Given the description of an element on the screen output the (x, y) to click on. 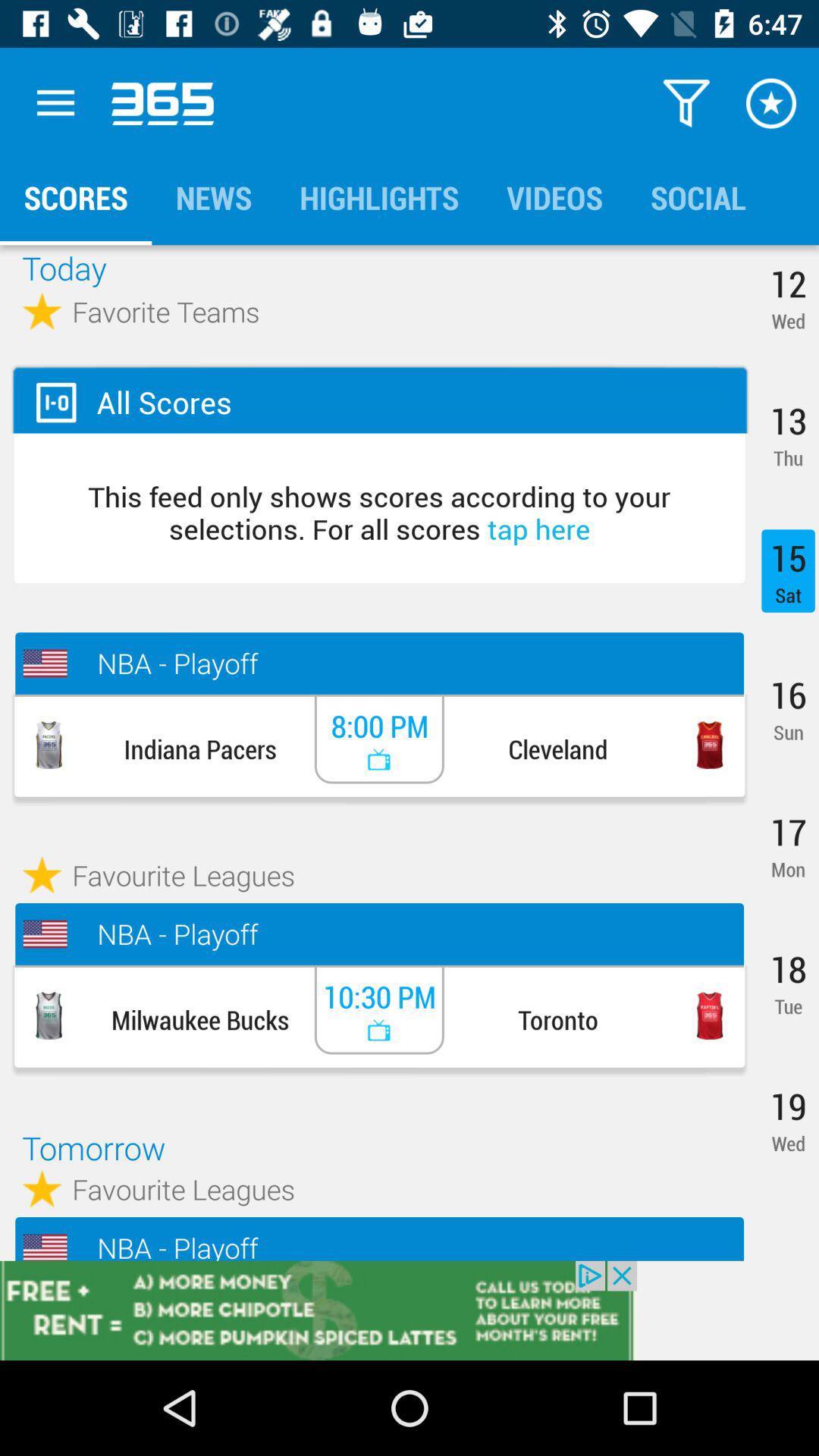
open advertisement (409, 1310)
